Given the description of an element on the screen output the (x, y) to click on. 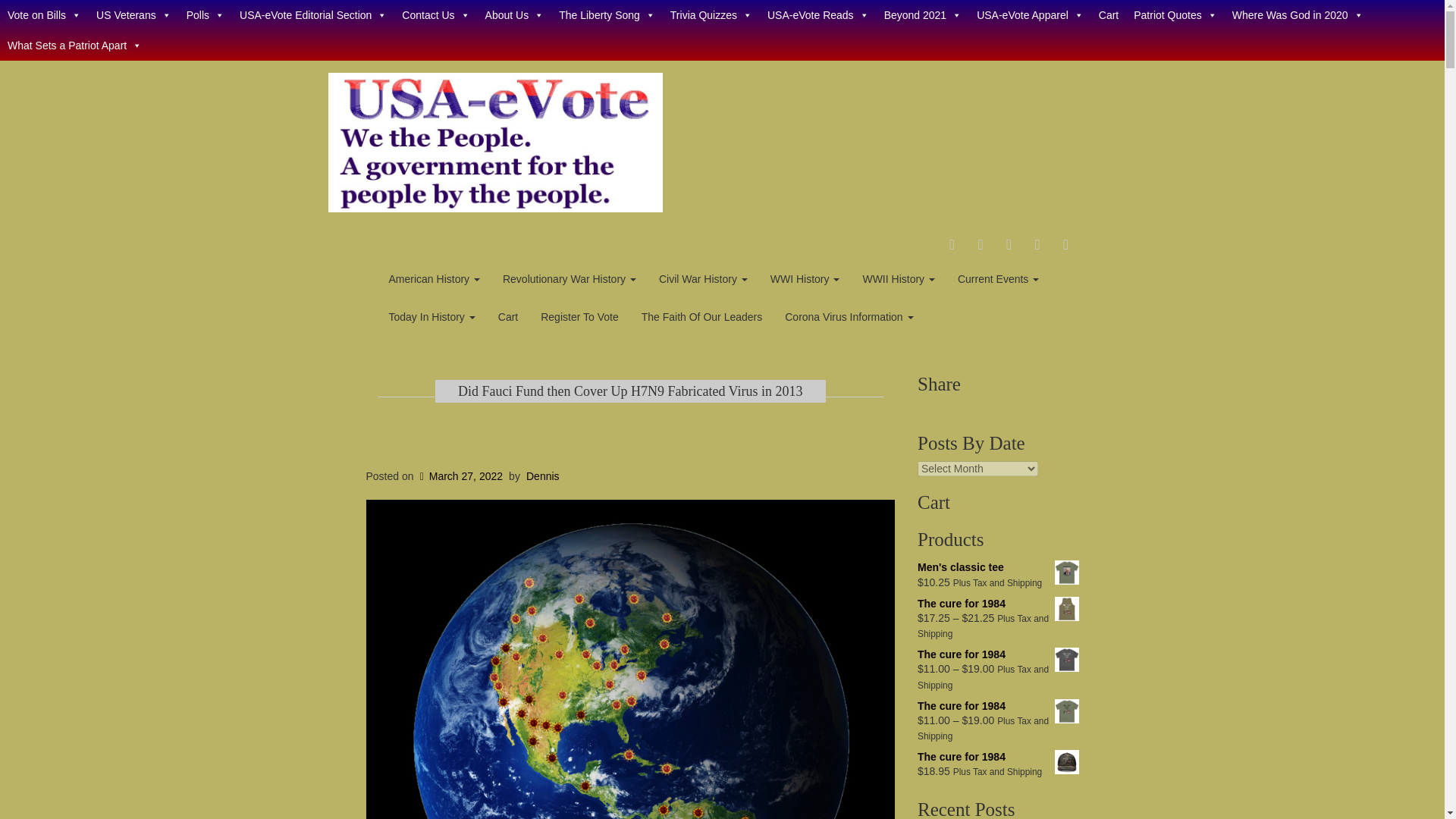
Polls (205, 15)
US Veterans (133, 15)
USA-eVote Apparel (1029, 15)
USA-eVote Editorial Section (312, 15)
Vote on Bills (44, 15)
